Given the description of an element on the screen output the (x, y) to click on. 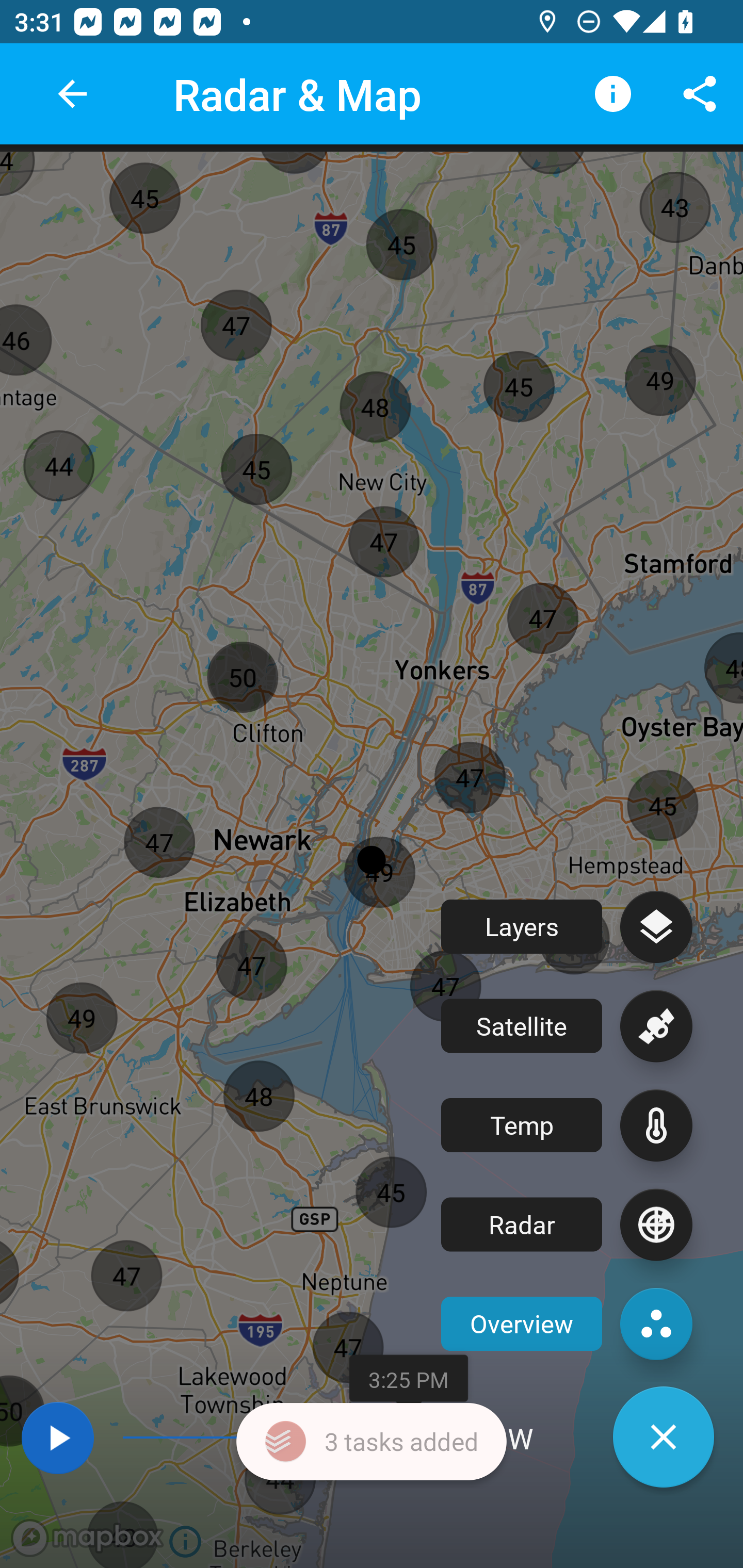
back (71, 93)
Legend (612, 93)
Share (699, 93)
Layers (566, 926)
Satellite (566, 1026)
Temp (566, 1125)
Radar (566, 1224)
Overview (566, 1323)
Close layers menu. (663, 1437)
Play map layers animation. (57, 1437)
